Given the description of an element on the screen output the (x, y) to click on. 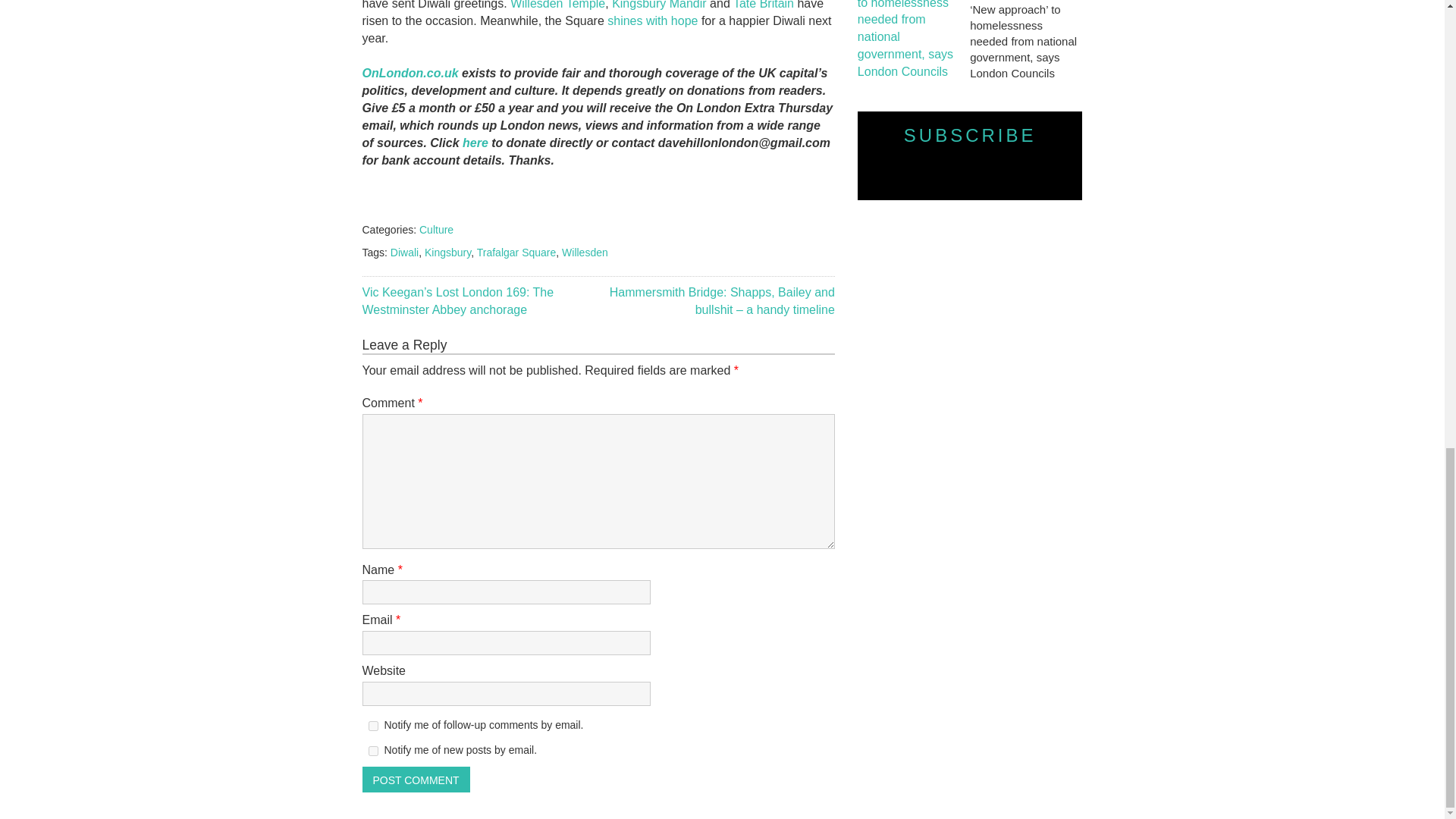
subscribe (373, 726)
subscribe (373, 750)
Post Comment (416, 779)
